Given the description of an element on the screen output the (x, y) to click on. 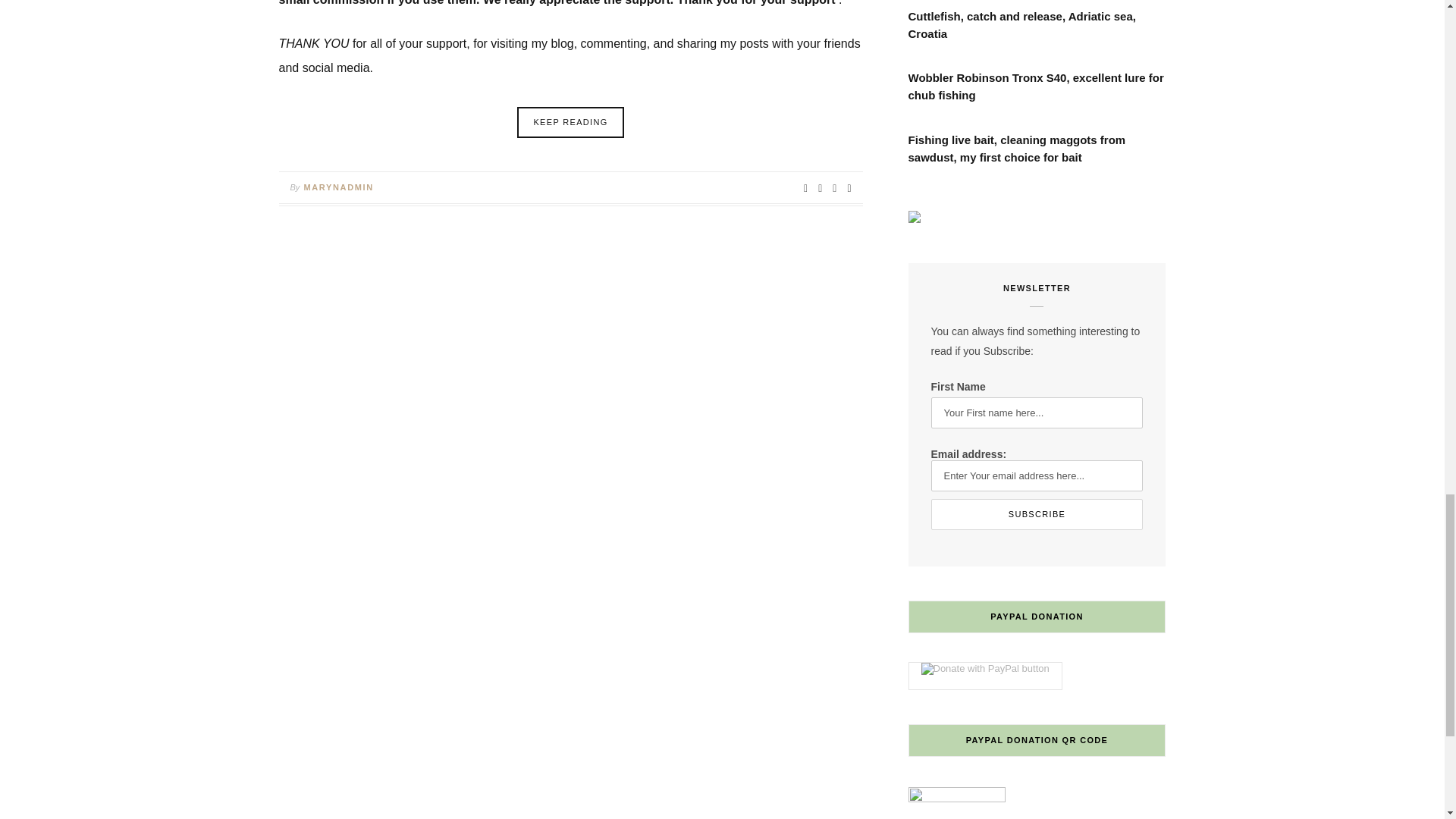
Subscribe (1036, 513)
Cuttlefish, catch and release, Adriatic sea, Croatia (1037, 25)
Wobbler Robinson Tronx S40, excellent lure for chub fishing (1037, 86)
KEEP READING (569, 122)
Cuttlefish, catch and release, Adriatic sea, Croatia (1037, 25)
Posts by marynadmin (337, 186)
MARYNADMIN (337, 186)
Share on Facebook (805, 188)
Share on Twitter (820, 188)
Your First name here... (1036, 412)
Wobbler Robinson Tronx S40, excellent lure for chub fishing (1037, 86)
Subscribe (1036, 513)
